Given the description of an element on the screen output the (x, y) to click on. 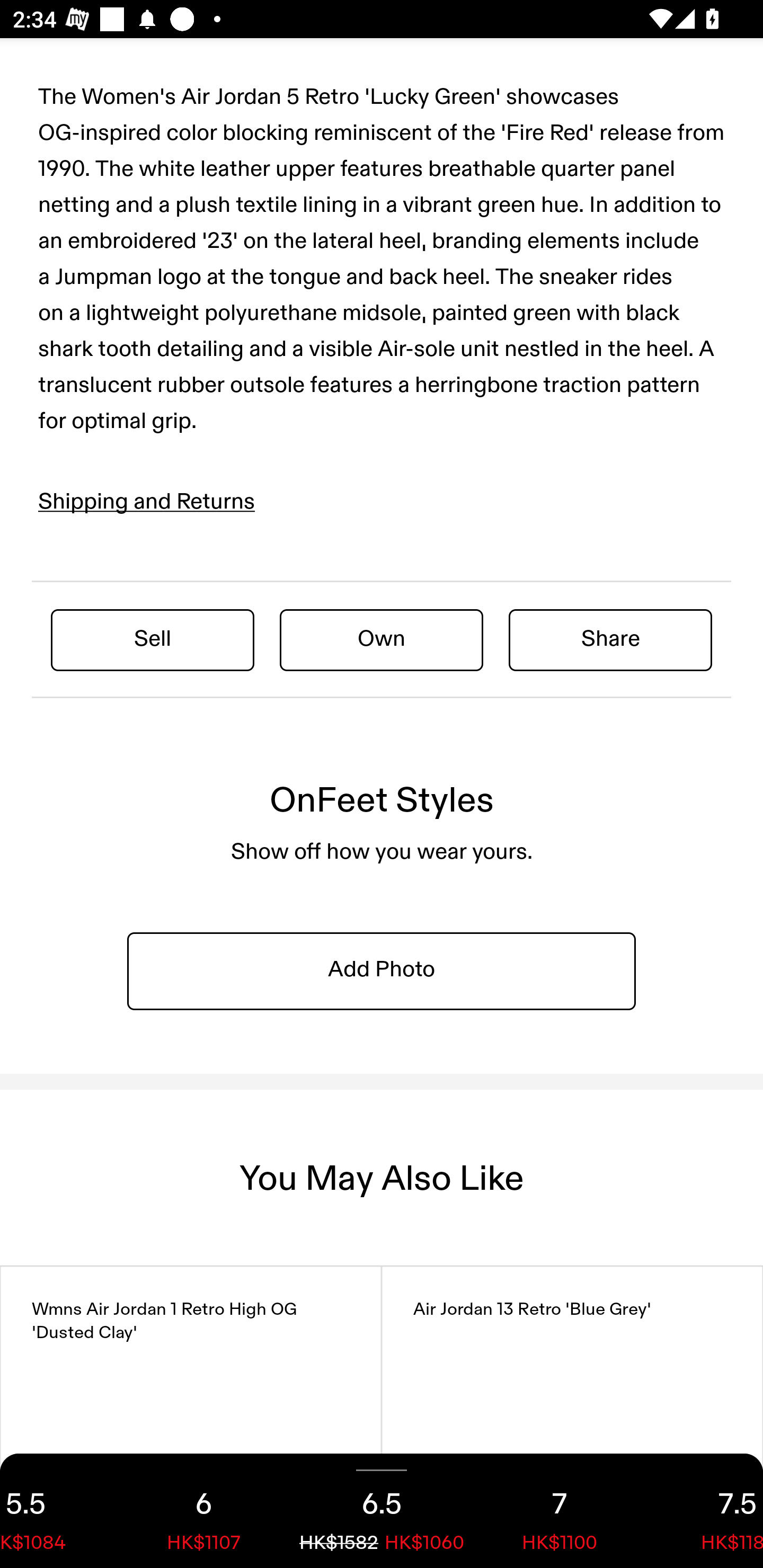
Shipping and Returns (146, 501)
Sell (152, 639)
Own (381, 639)
Share (609, 639)
Add Photo (381, 970)
Wmns Air Jordan 1 Retro High OG 'Dusted Clay' (190, 1416)
Air Jordan 13 Retro 'Blue Grey' (572, 1416)
5.5 HK$1084 (57, 1510)
6 HK$1107 (203, 1510)
6.5 HK$1582 HK$1060 (381, 1510)
7 HK$1100 (559, 1510)
7.5 HK$1187 (705, 1510)
